Given the description of an element on the screen output the (x, y) to click on. 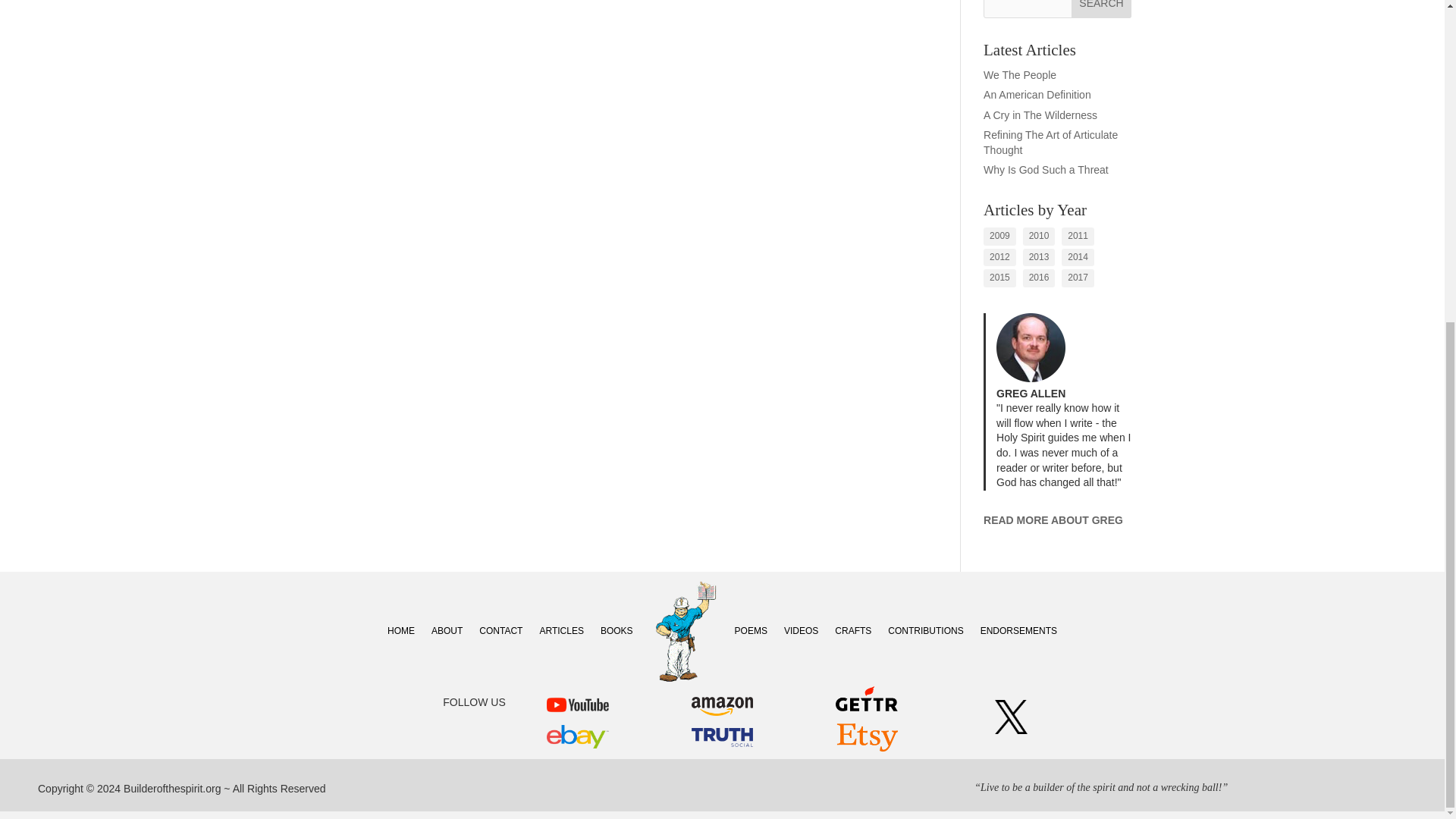
Refining The Art of Articulate Thought (1051, 142)
2010 (1039, 236)
yt (577, 704)
2009 (1000, 236)
We The People (1020, 73)
amazon (722, 705)
2014 (1077, 257)
2011 (1077, 236)
x (1010, 716)
A Cry in The Wilderness (1040, 114)
ets (866, 737)
eb (577, 736)
gettr (866, 698)
Why Is God Such a Threat (1046, 169)
An American Definition (1037, 94)
